Given the description of an element on the screen output the (x, y) to click on. 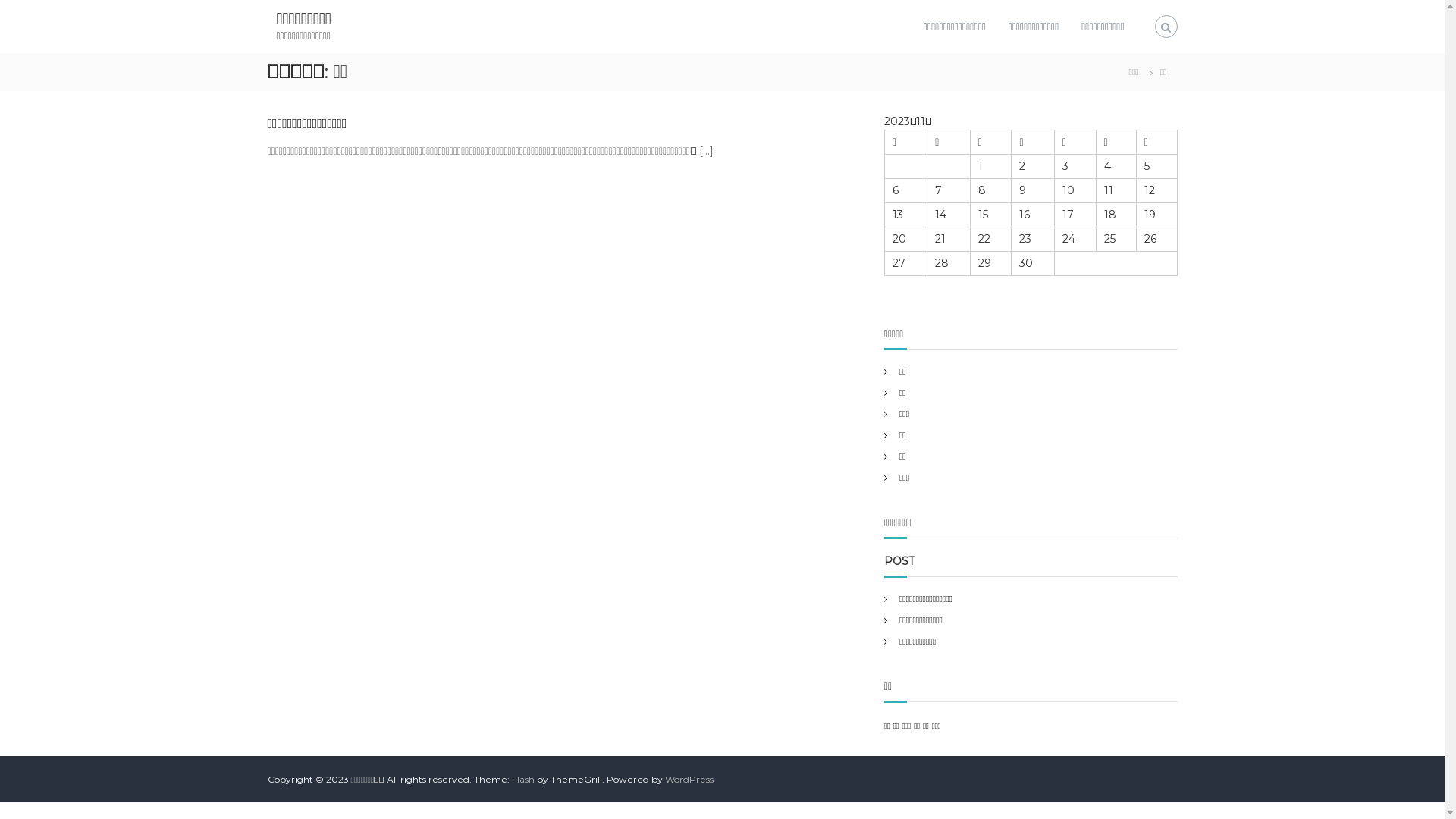
Flash Element type: text (522, 778)
WordPress Element type: text (689, 778)
